Given the description of an element on the screen output the (x, y) to click on. 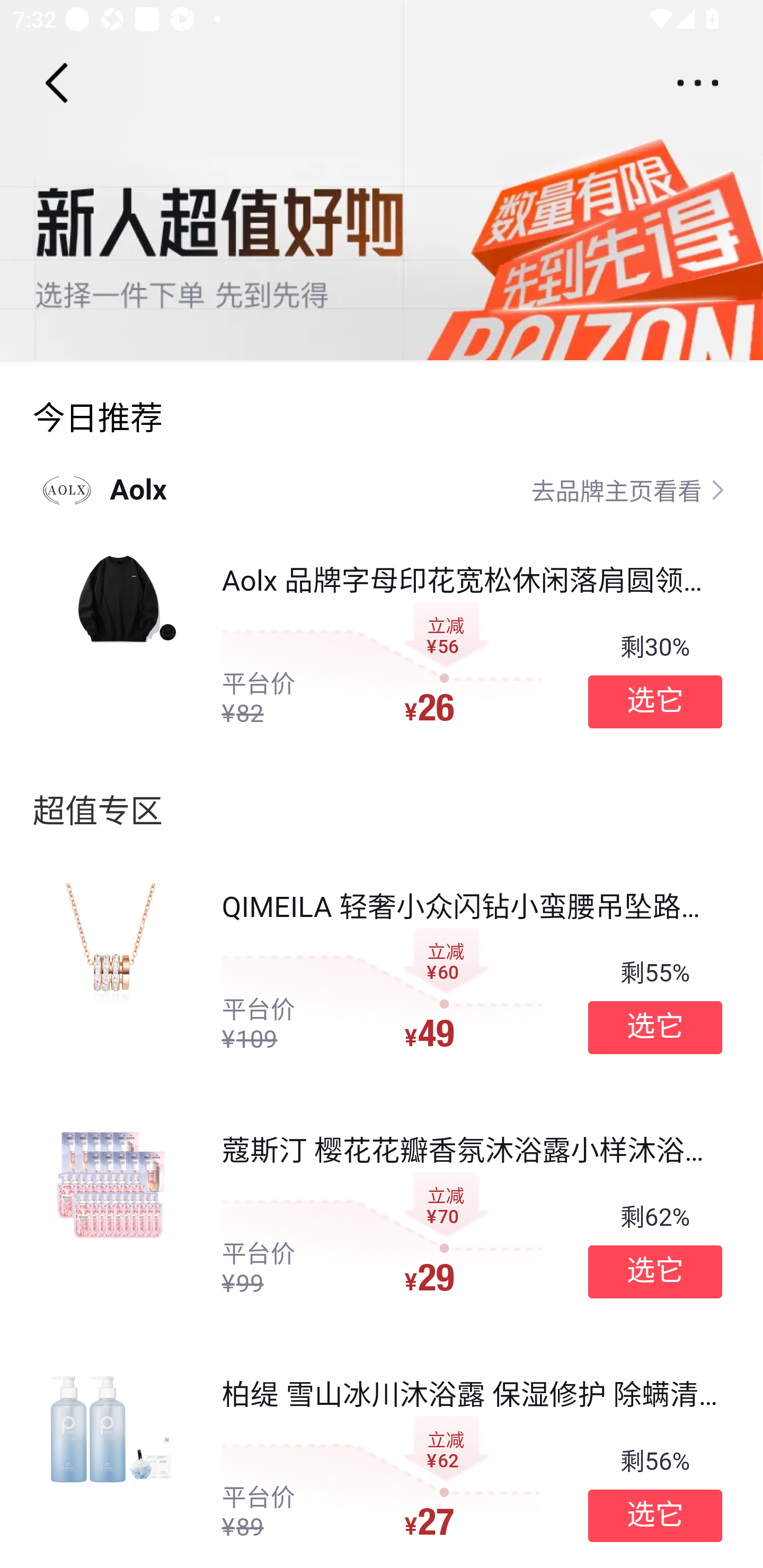
Aolx去品牌主页看看 (381, 489)
选它 (654, 701)
选它 (654, 1027)
选它 (654, 1271)
选它 (654, 1515)
